Given the description of an element on the screen output the (x, y) to click on. 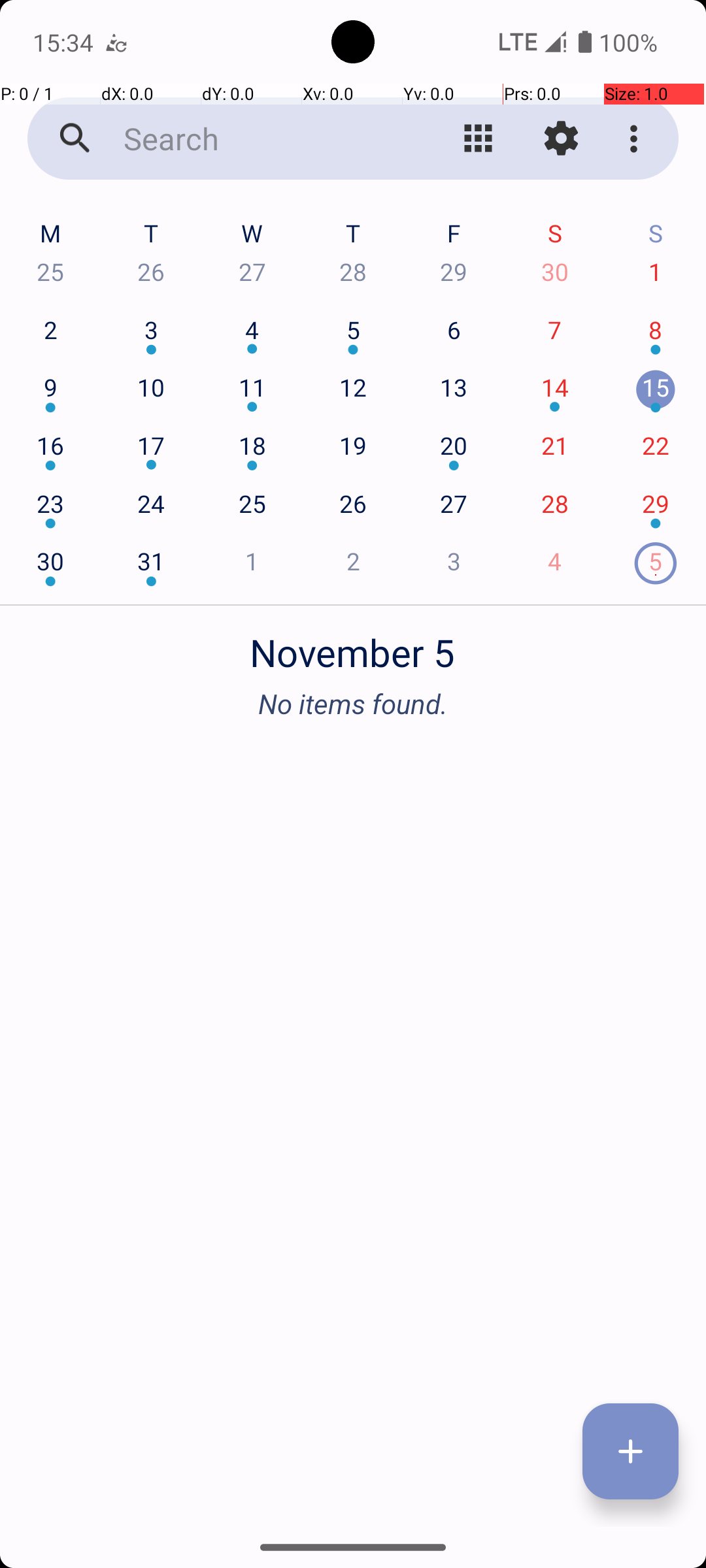
November 5 Element type: android.widget.TextView (352, 644)
